Given the description of an element on the screen output the (x, y) to click on. 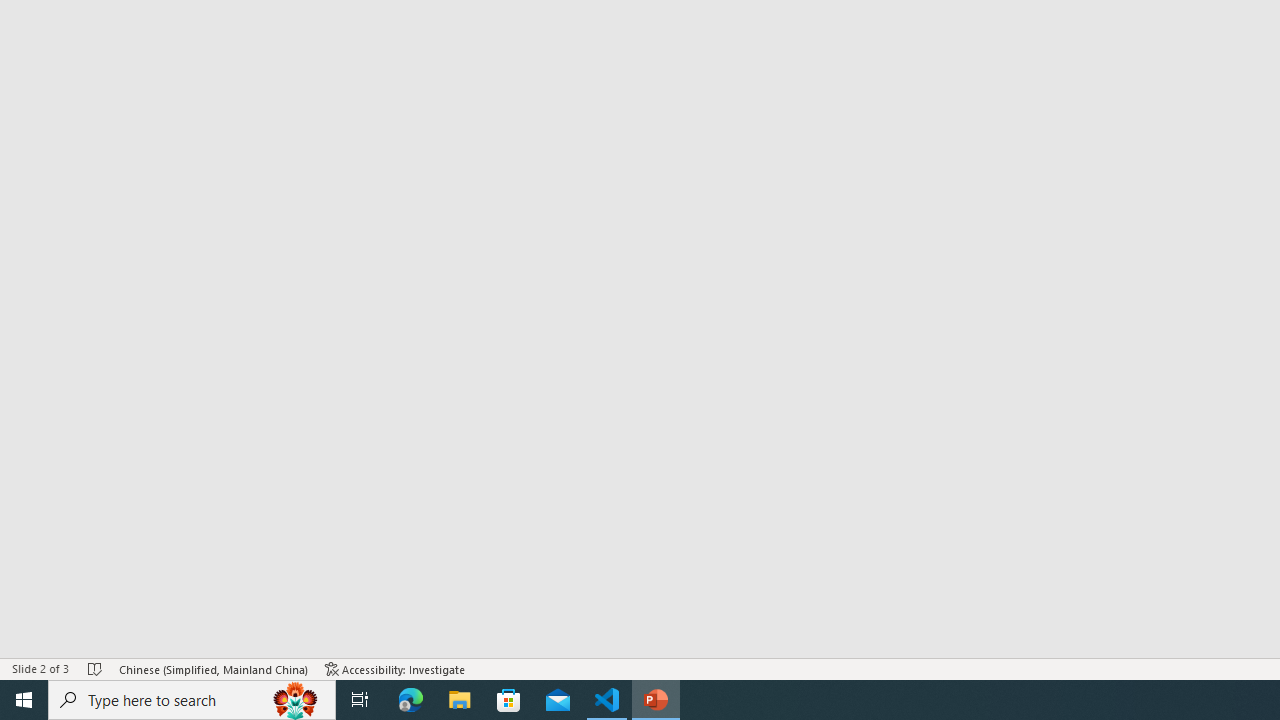
Accessibility Checker Accessibility: Investigate (395, 668)
Spell Check No Errors (95, 668)
